Given the description of an element on the screen output the (x, y) to click on. 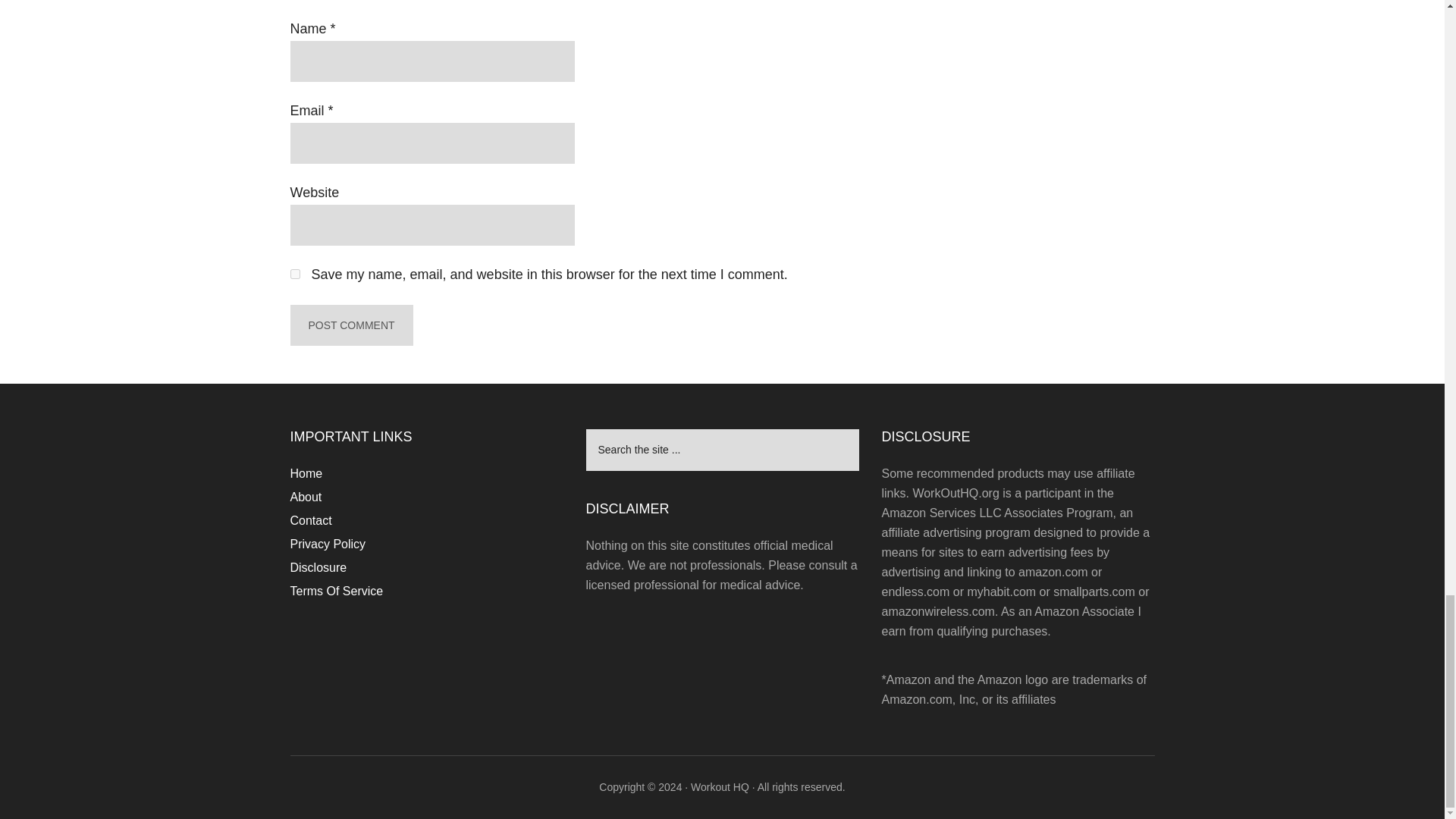
yes (294, 274)
Post Comment (350, 325)
Post Comment (350, 325)
